Given the description of an element on the screen output the (x, y) to click on. 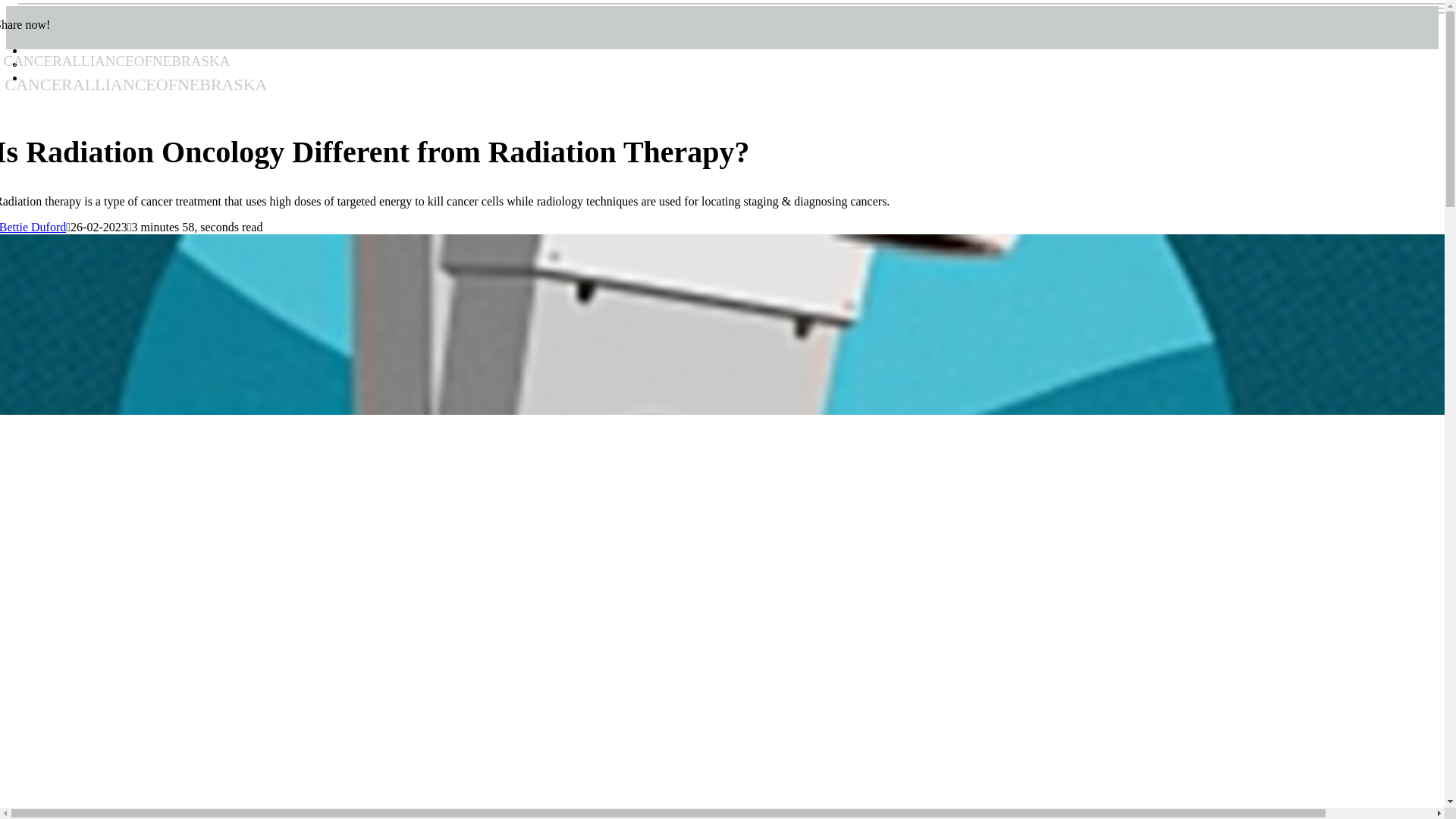
Bettie Duford (32, 226)
Posts by Bettie Duford (32, 226)
